Given the description of an element on the screen output the (x, y) to click on. 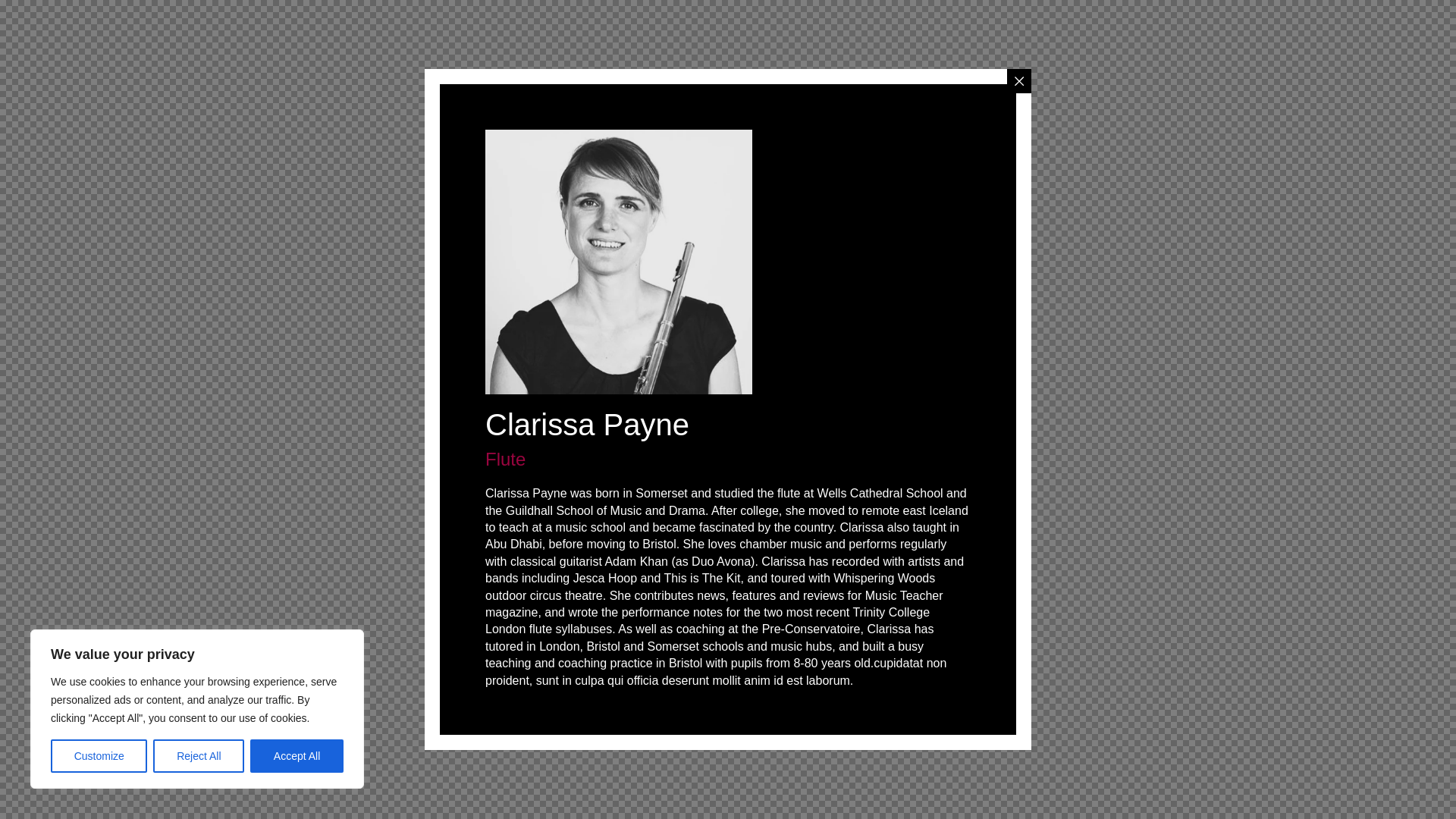
Reject All (198, 756)
Customize (98, 756)
Accept All (296, 756)
